Given the description of an element on the screen output the (x, y) to click on. 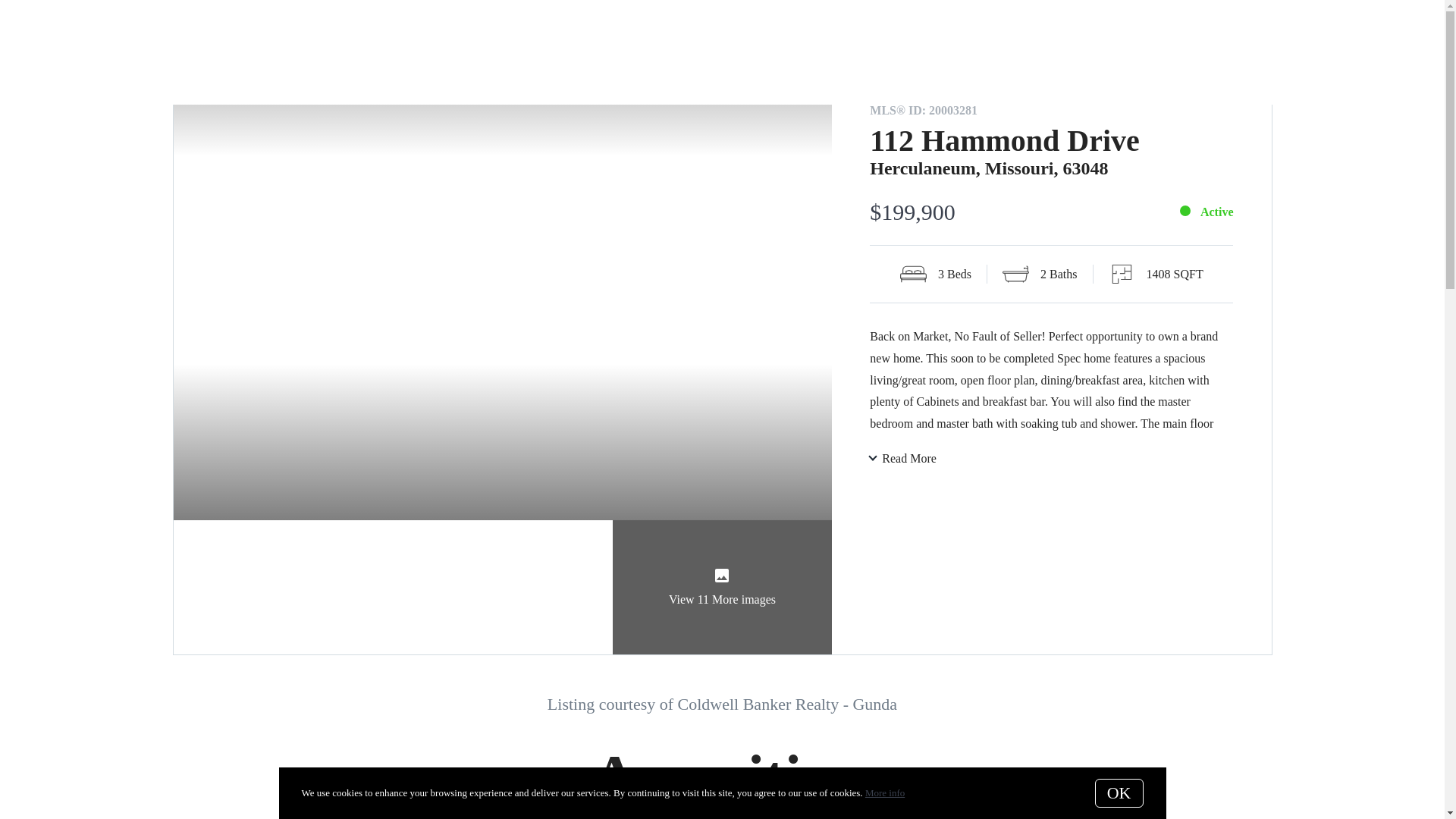
View 11 More images (722, 587)
